Given the description of an element on the screen output the (x, y) to click on. 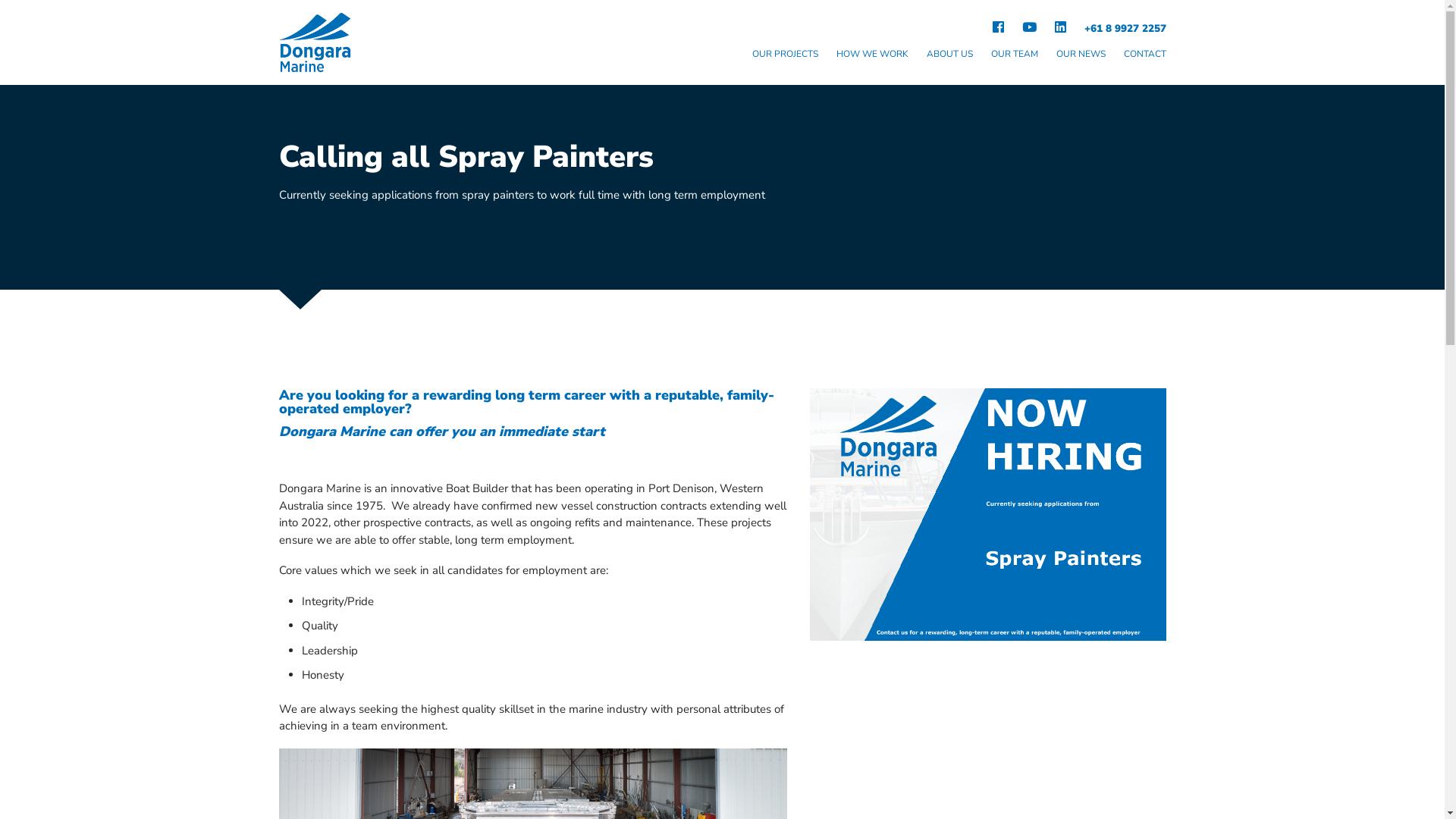
OUR TEAM Element type: text (1013, 55)
OUR NEWS Element type: text (1079, 55)
OUR PROJECTS Element type: text (785, 55)
+61 8 9927 2257 Element type: text (1120, 28)
ABOUT US Element type: text (949, 55)
CONTACT Element type: text (1144, 55)
HOW WE WORK Element type: text (871, 55)
